Given the description of an element on the screen output the (x, y) to click on. 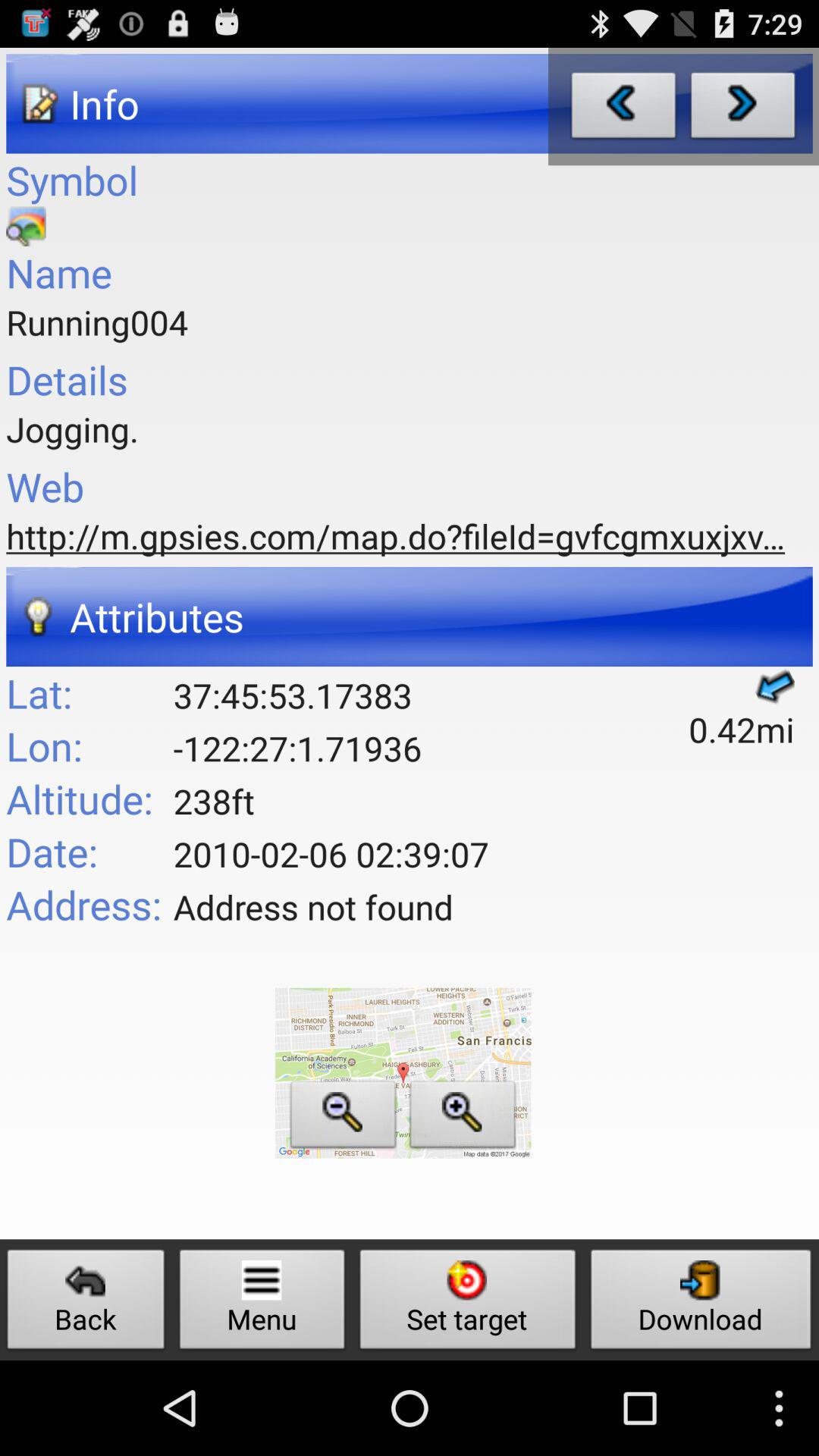
tap item at the bottom right corner (701, 1303)
